Given the description of an element on the screen output the (x, y) to click on. 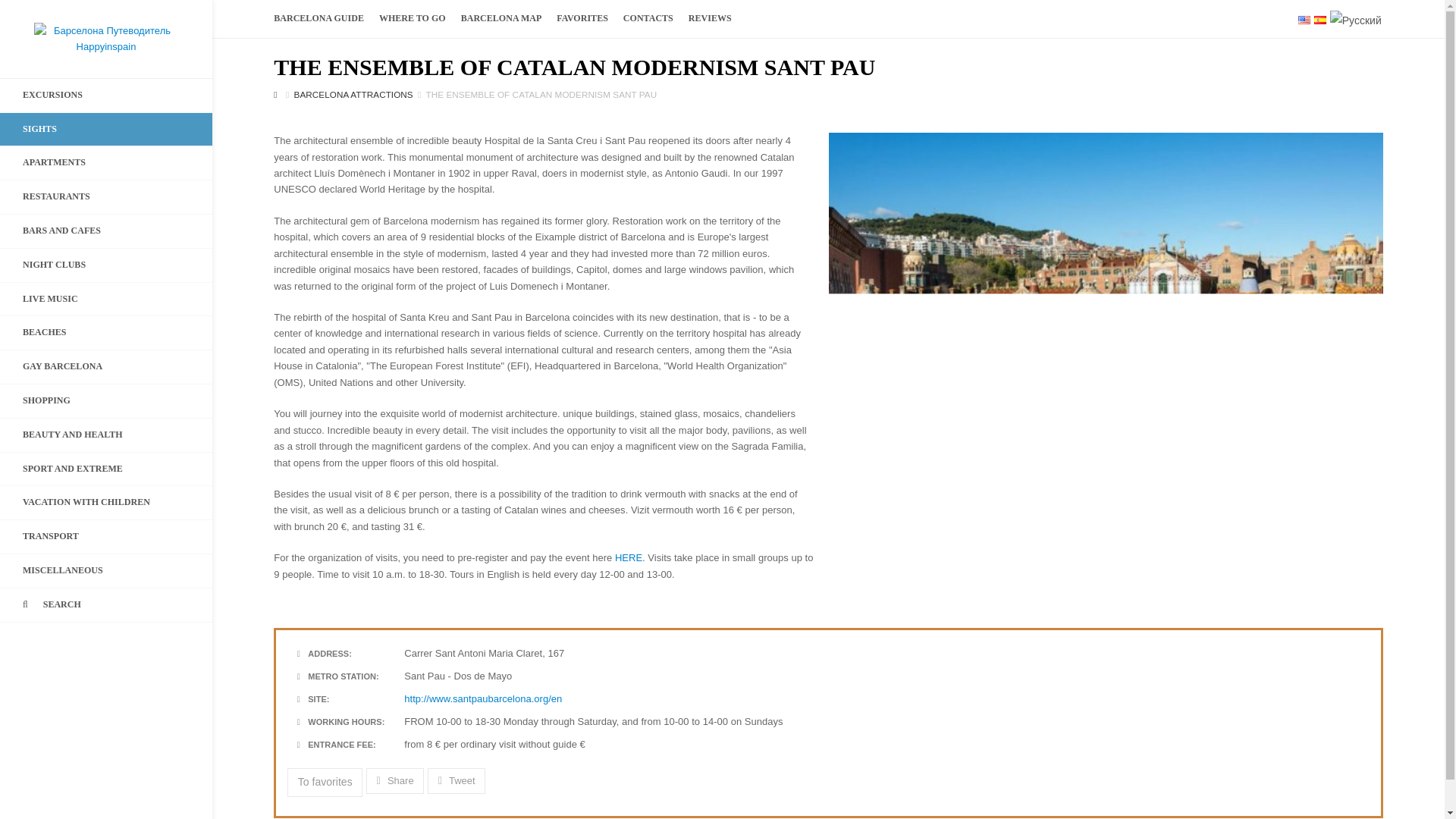
FAVORITES (582, 18)
BARCELONA GUIDE (318, 18)
REVIEWS (710, 18)
SIGHTS (106, 129)
EXCURSIONS (106, 95)
RESTAURANTS (106, 196)
Barcelona Attractions (353, 94)
BARCELONA MAP (501, 18)
BARS AND CAFES (106, 231)
English (1304, 19)
APARTMENTS (106, 162)
CONTACTS (647, 18)
WHERE TO GO (411, 18)
